Given the description of an element on the screen output the (x, y) to click on. 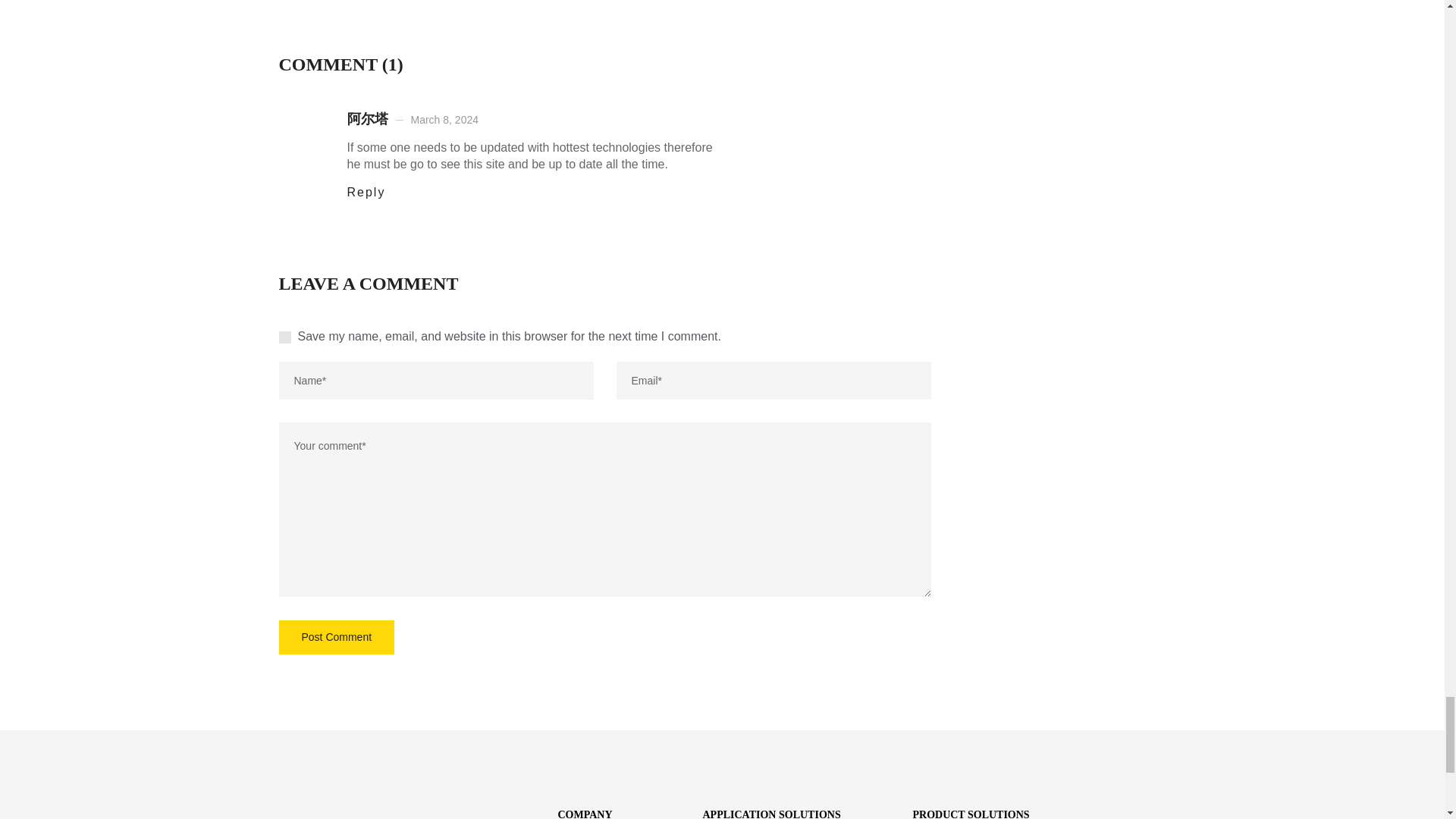
yes (285, 337)
Post comment (336, 636)
